Given the description of an element on the screen output the (x, y) to click on. 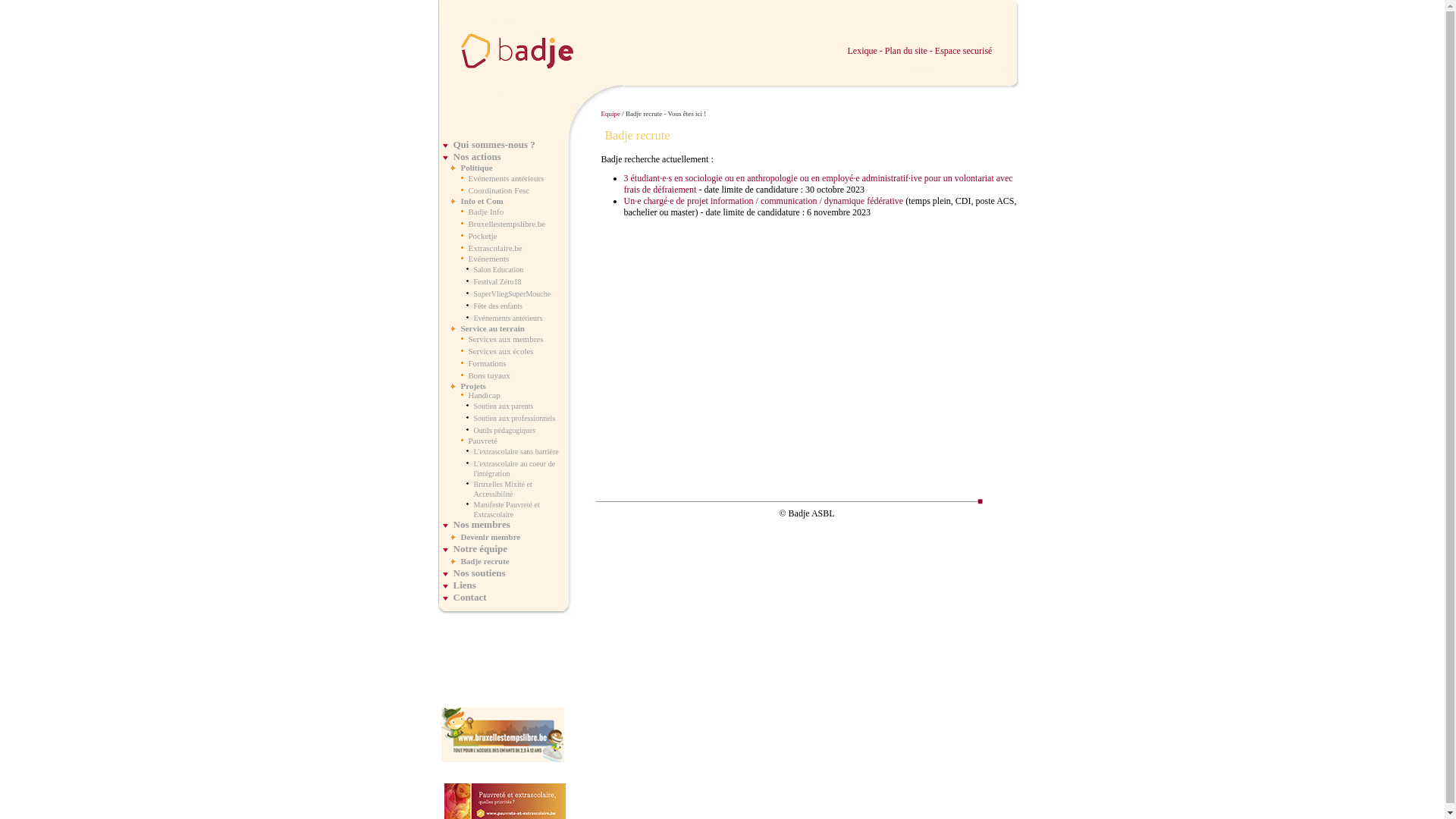
Services aux membres Element type: text (505, 338)
Coordination Fesc Element type: text (499, 189)
Bons tuyaux Element type: text (489, 374)
Equipe Element type: text (610, 113)
Nos soutiens Element type: text (479, 572)
Extrascolaire.be Element type: text (495, 247)
SuperVliegSuperMouche Element type: text (511, 293)
Service au terrain Element type: text (492, 327)
Info et Com Element type: text (482, 200)
Plan du site - Element type: text (909, 50)
Nos actions Element type: text (477, 156)
Contact Element type: text (469, 596)
Handicap Element type: text (484, 394)
Soutien aux parents Element type: text (503, 405)
Salon Education Element type: text (498, 269)
Liens Element type: text (464, 584)
Bruxellestempslibre.be Element type: text (507, 223)
Projets Element type: text (473, 385)
Devenir membre Element type: text (490, 536)
Nos membres Element type: text (481, 524)
Lexique - Element type: text (865, 50)
Soutien aux professionnels Element type: text (514, 418)
Badje Info Element type: text (486, 211)
Politique Element type: text (476, 167)
Formations Element type: text (487, 362)
Badje recrute Element type: text (485, 560)
Pocketje Element type: text (482, 235)
Qui sommes-nous ? Element type: text (494, 144)
